Given the description of an element on the screen output the (x, y) to click on. 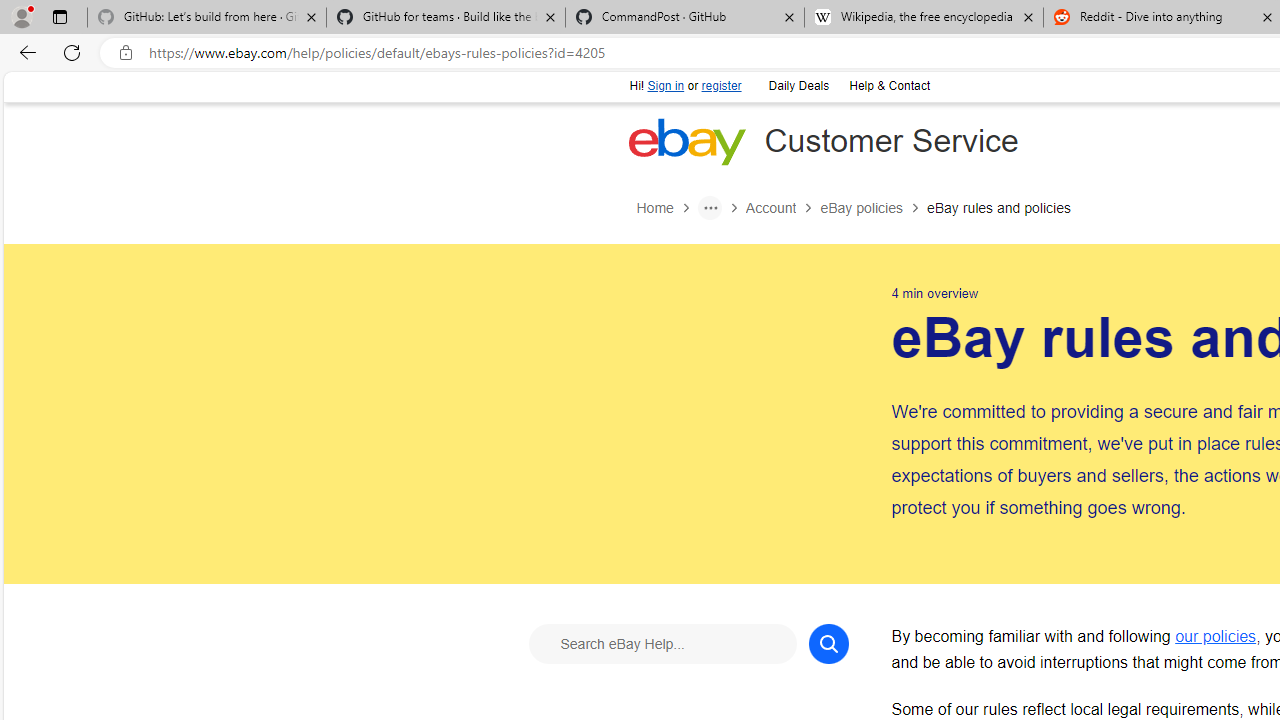
eBay policies (873, 208)
